Given the description of an element on the screen output the (x, y) to click on. 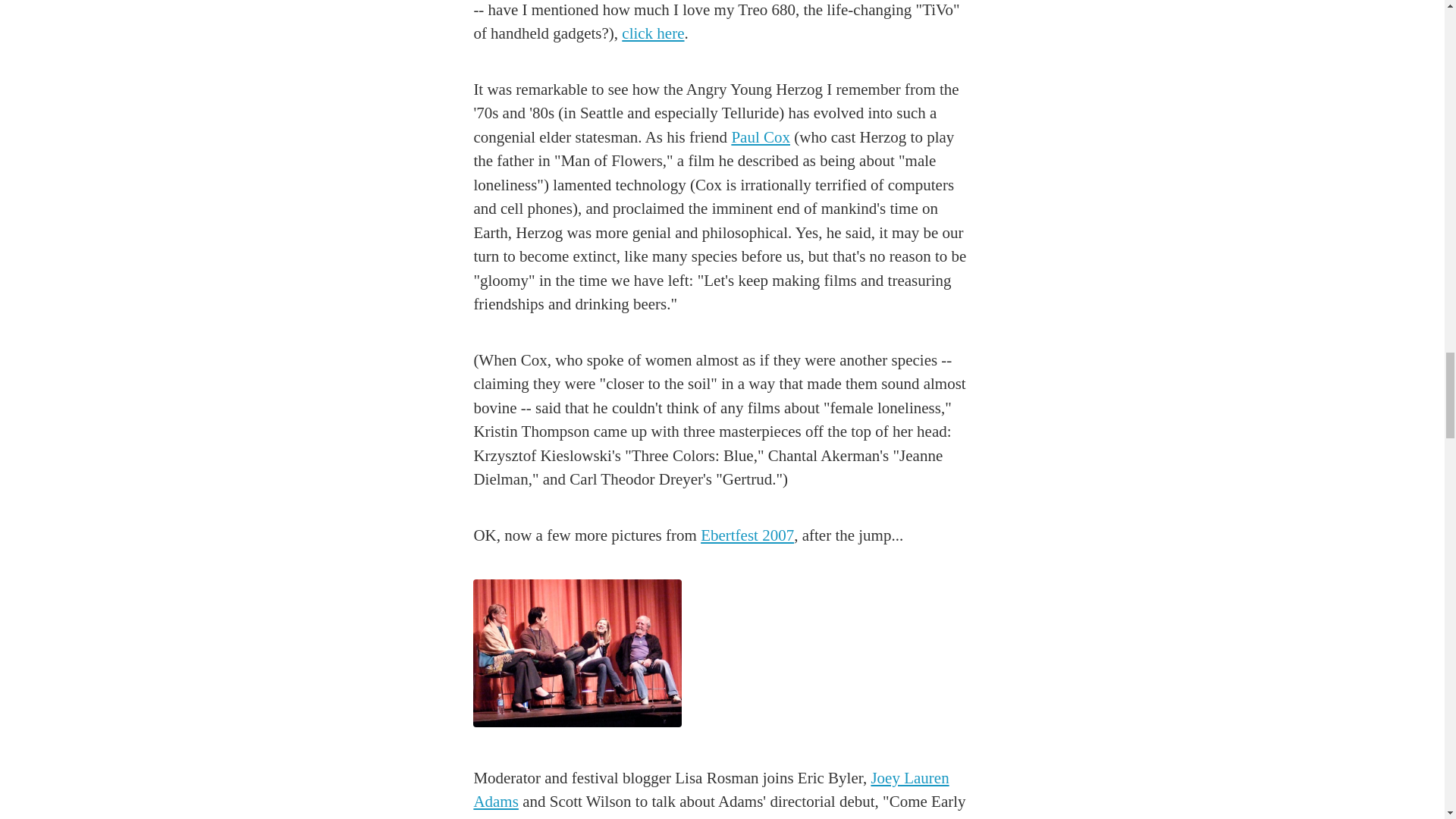
Joey Lauren Adams (711, 790)
click here (652, 33)
Paul Cox (760, 136)
Ebertfest 2007 (746, 535)
